Given the description of an element on the screen output the (x, y) to click on. 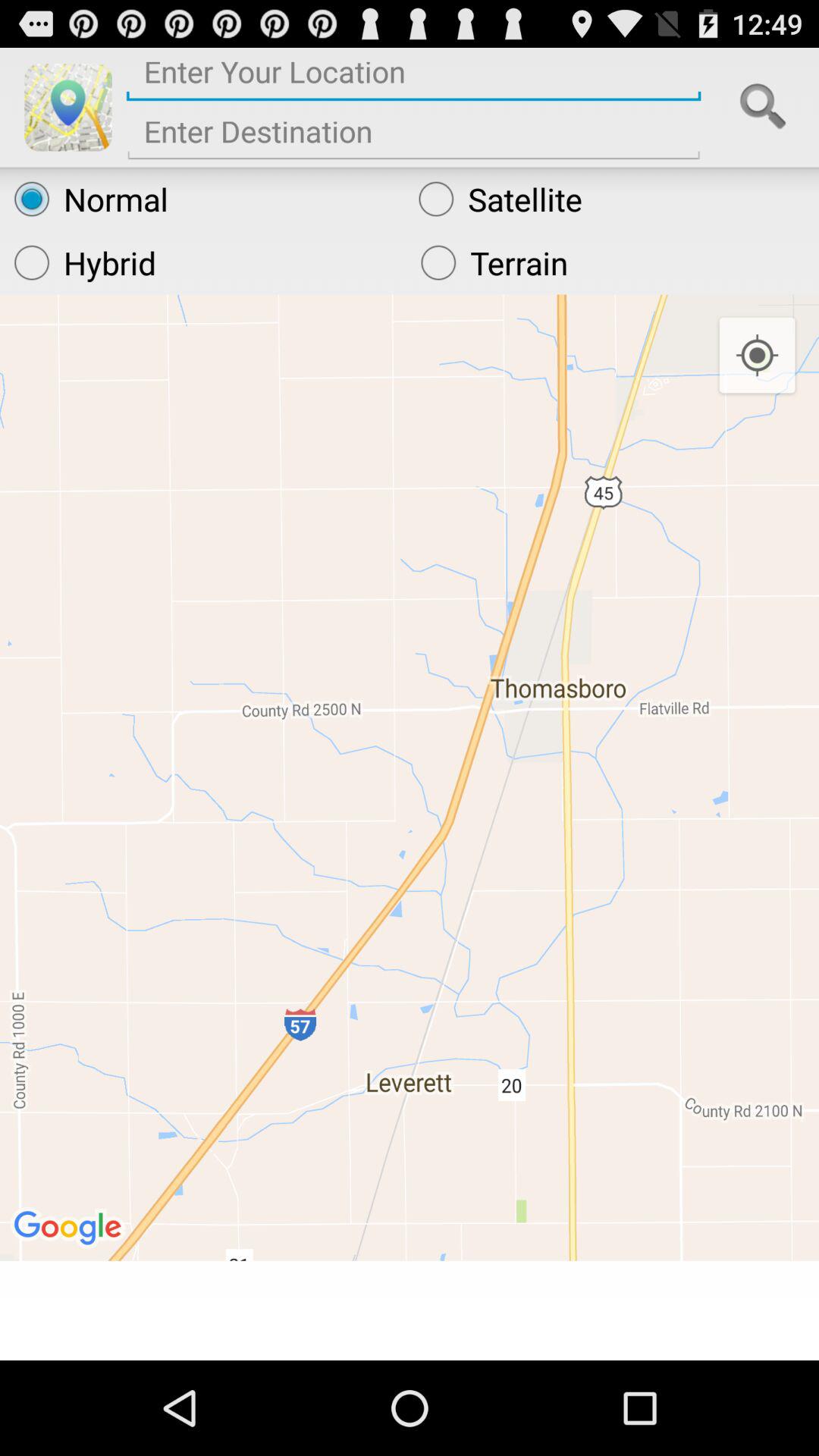
search icon (763, 107)
